Given the description of an element on the screen output the (x, y) to click on. 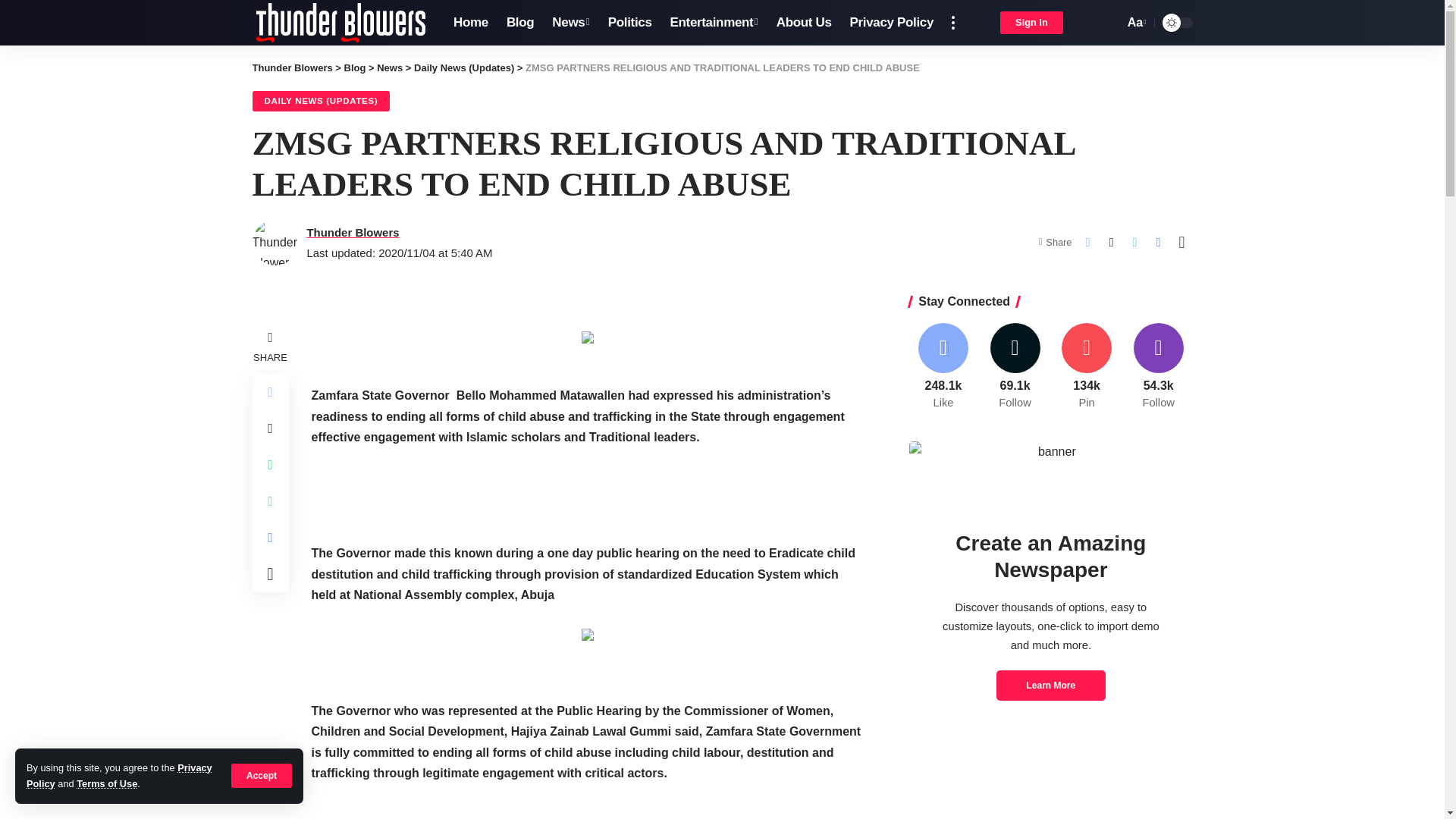
Home (470, 22)
Privacy Policy (119, 775)
Sign In (1031, 22)
Blog (1135, 22)
Go to Thunder Blowers. (520, 22)
About Us (291, 67)
Go to Blog. (804, 22)
News (354, 67)
Entertainment (570, 22)
